Given the description of an element on the screen output the (x, y) to click on. 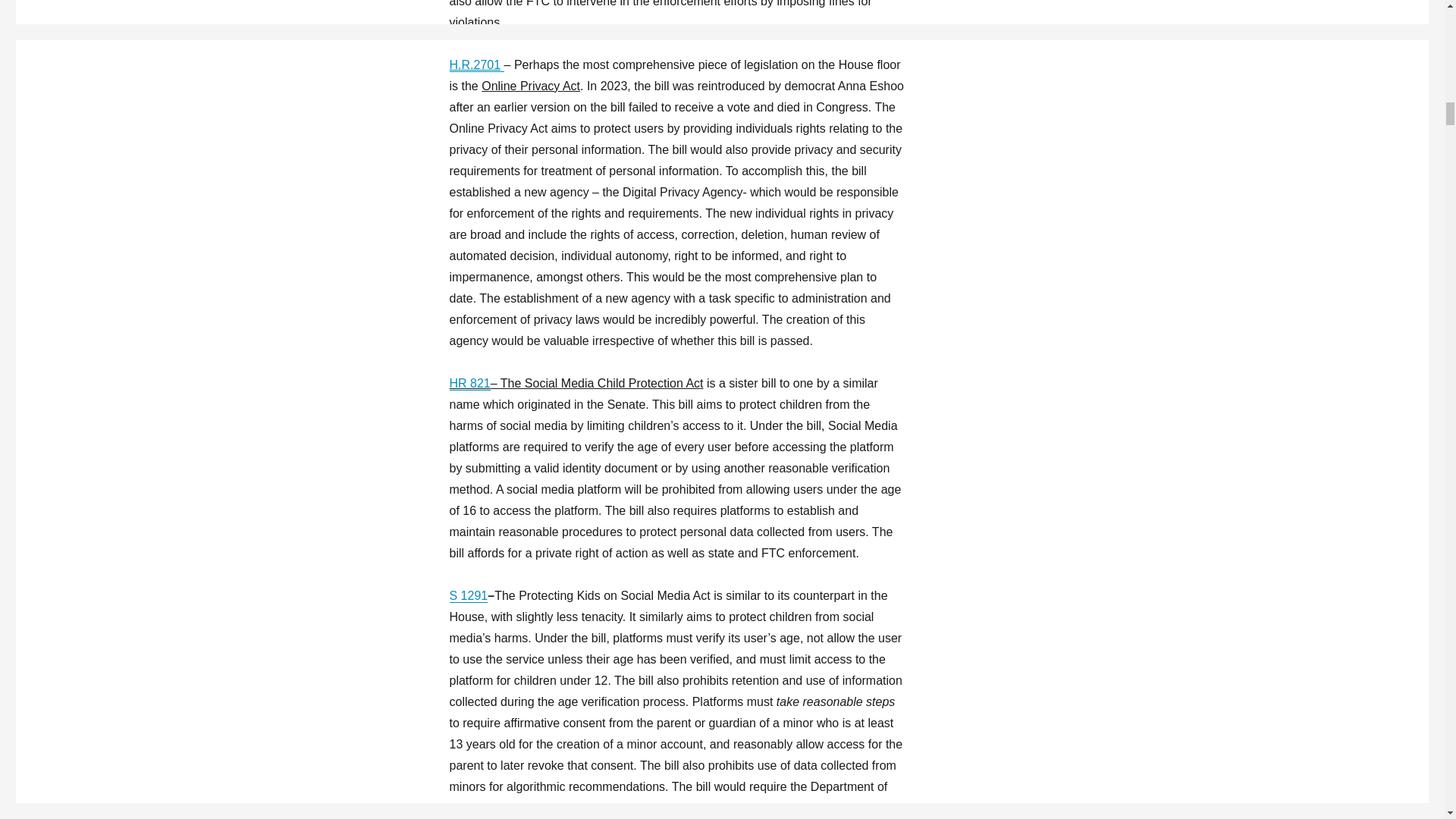
HR 821 (468, 382)
S 1291 (467, 594)
H.R.2701 (475, 64)
